Given the description of an element on the screen output the (x, y) to click on. 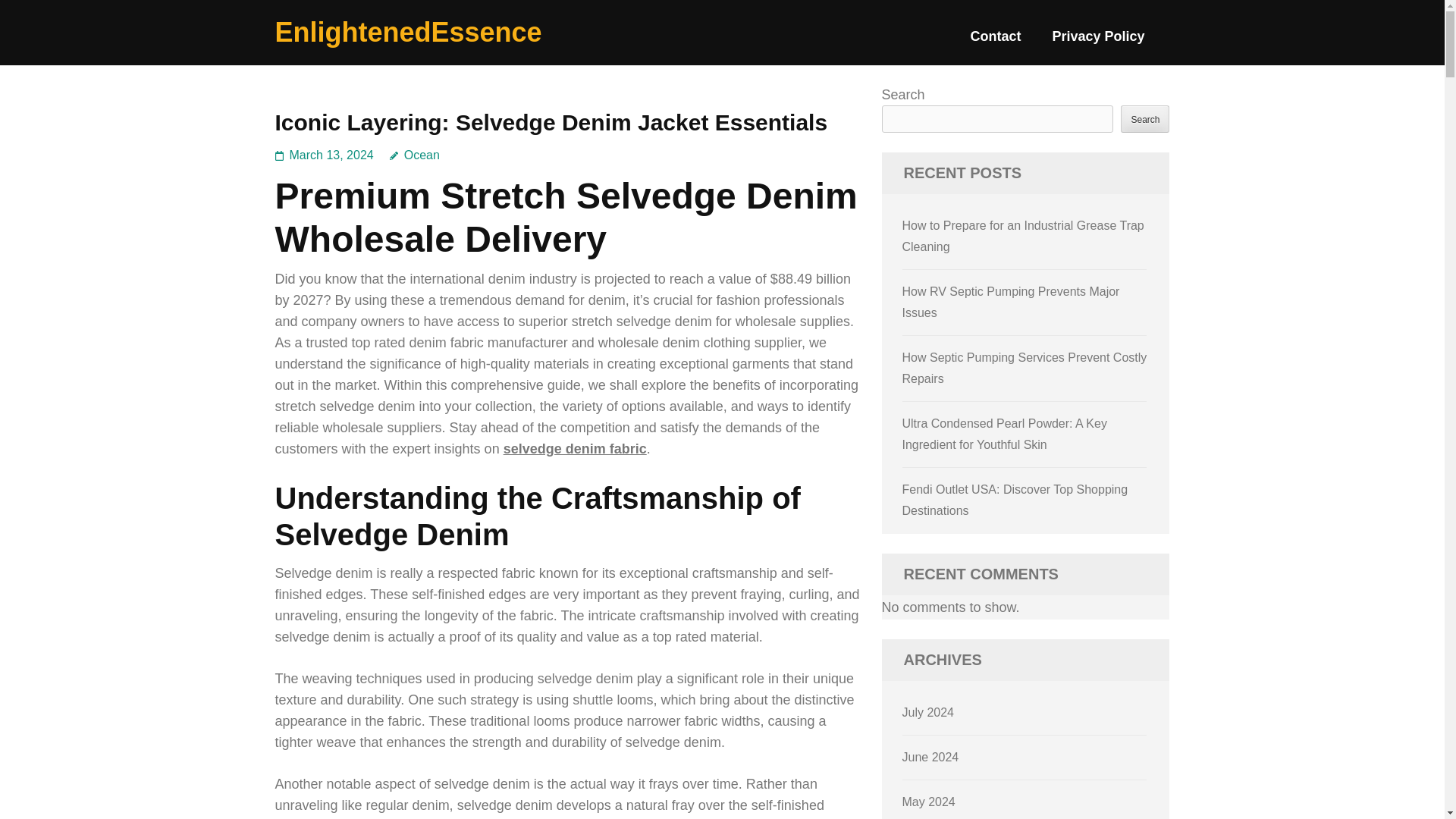
June 2024 (930, 757)
How to Prepare for an Industrial Grease Trap Cleaning (1023, 236)
July 2024 (928, 712)
Privacy Policy (1097, 42)
March 13, 2024 (331, 154)
May 2024 (928, 801)
Contact (994, 42)
EnlightenedEssence (408, 31)
Fendi Outlet USA: Discover Top Shopping Destinations (1015, 499)
selvedge denim fabric (574, 448)
How Septic Pumping Services Prevent Costly Repairs (1024, 367)
How RV Septic Pumping Prevents Major Issues (1010, 302)
Ocean (414, 154)
Search (1145, 118)
